Given the description of an element on the screen output the (x, y) to click on. 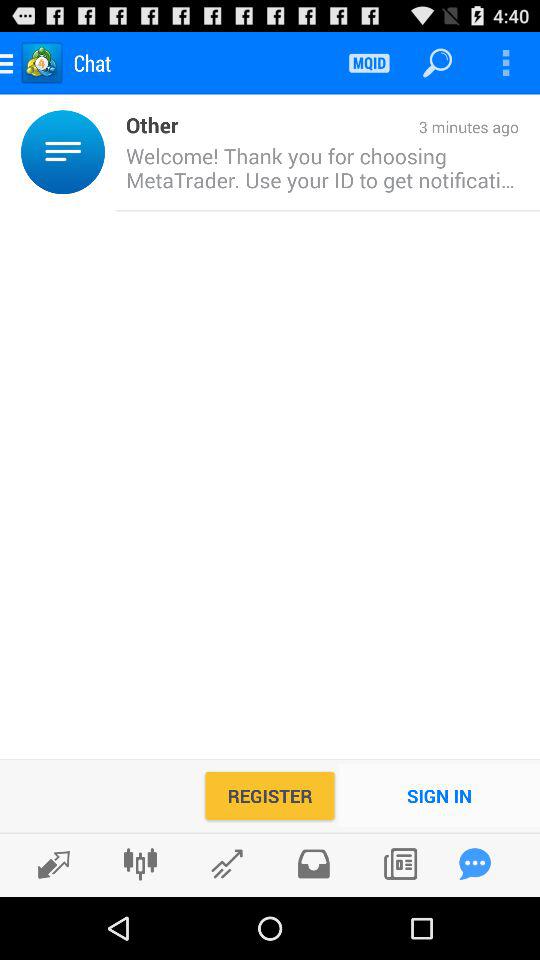
select to start a chat (475, 864)
